Given the description of an element on the screen output the (x, y) to click on. 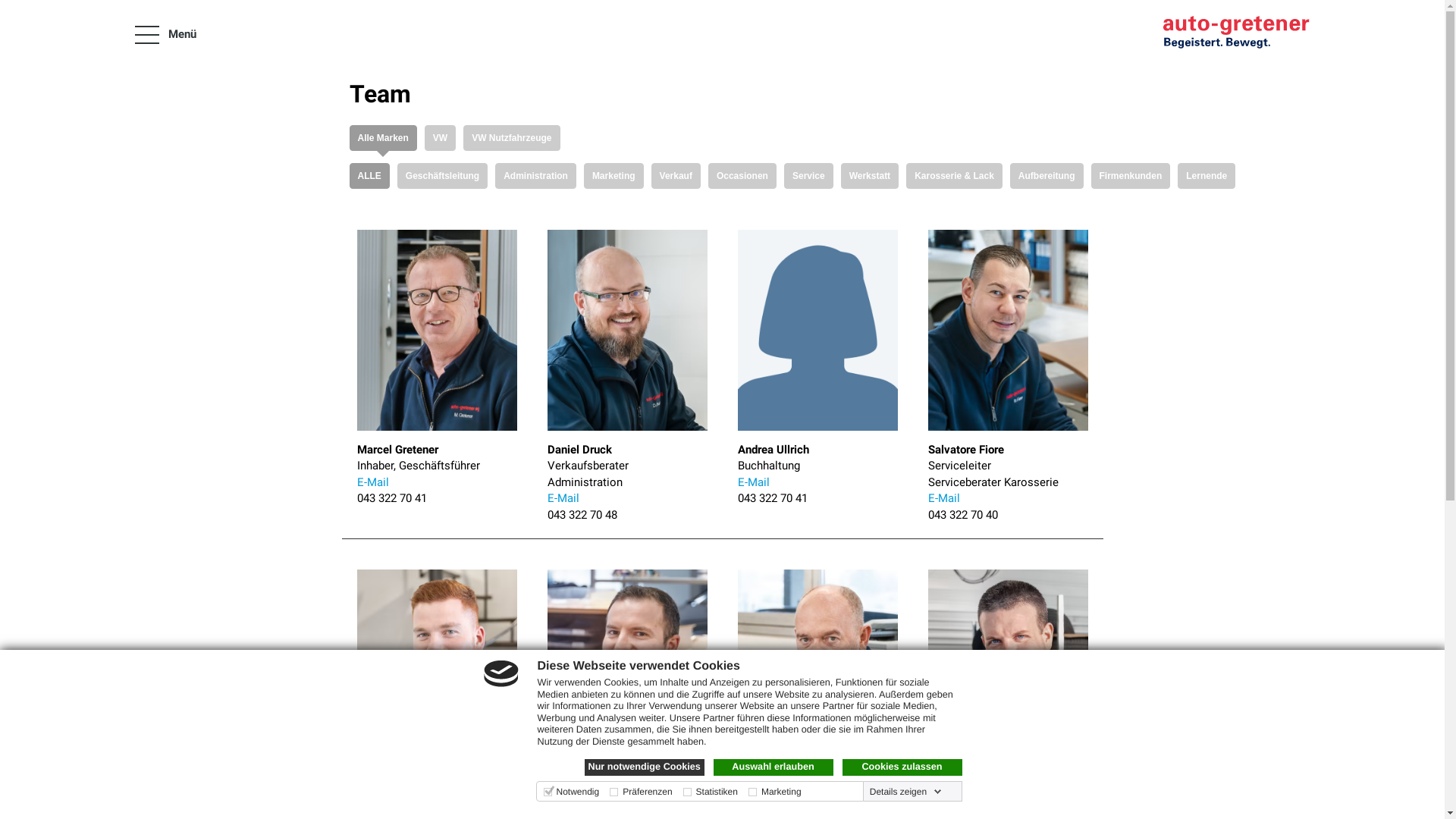
Occasionen Element type: text (742, 175)
Marketing Element type: text (613, 175)
E-Mail Element type: text (563, 498)
E-Mail Element type: text (752, 482)
Verkauf Element type: text (675, 175)
043 322 70 40 Element type: text (962, 514)
Administration Element type: text (535, 175)
Service Element type: text (808, 175)
VW Element type: text (439, 137)
Nur notwendige Cookies Element type: text (643, 767)
VW Nutzfahrzeuge Element type: text (511, 137)
Alle Marken Element type: text (382, 137)
Karosserie & Lack Element type: text (954, 175)
Werkstatt Element type: text (869, 175)
E-Mail Element type: text (944, 498)
Lernende Element type: text (1206, 175)
043 322 70 48 Element type: text (582, 514)
Firmenkunden Element type: text (1130, 175)
Auswahl erlauben Element type: text (772, 767)
043 322 70 41 Element type: text (391, 498)
ALLE Element type: text (368, 175)
043 322 70 41 Element type: text (771, 498)
Aufbereitung Element type: text (1046, 175)
Details zeigen Element type: text (905, 791)
Cookies zulassen Element type: text (901, 767)
E-Mail Element type: text (372, 482)
